Given the description of an element on the screen output the (x, y) to click on. 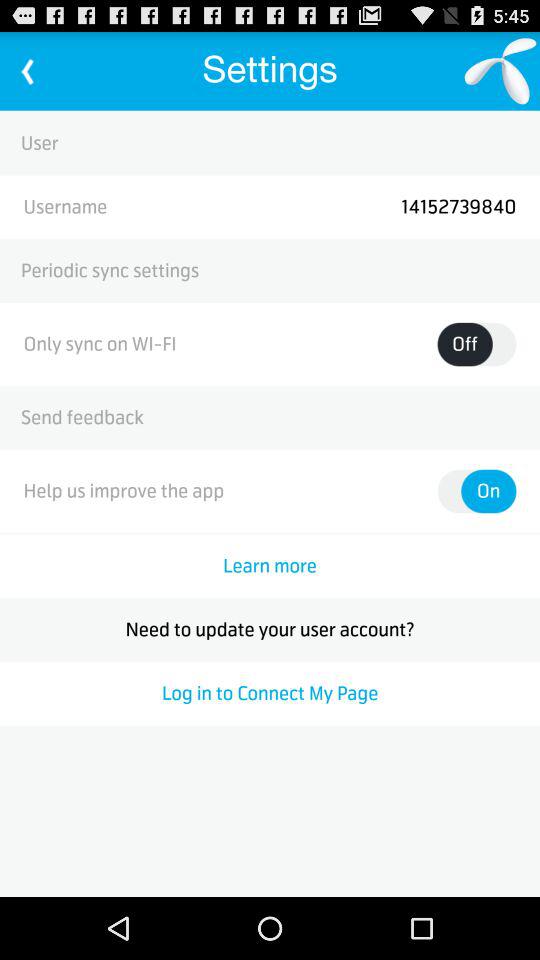
jump until the learn more (270, 566)
